Given the description of an element on the screen output the (x, y) to click on. 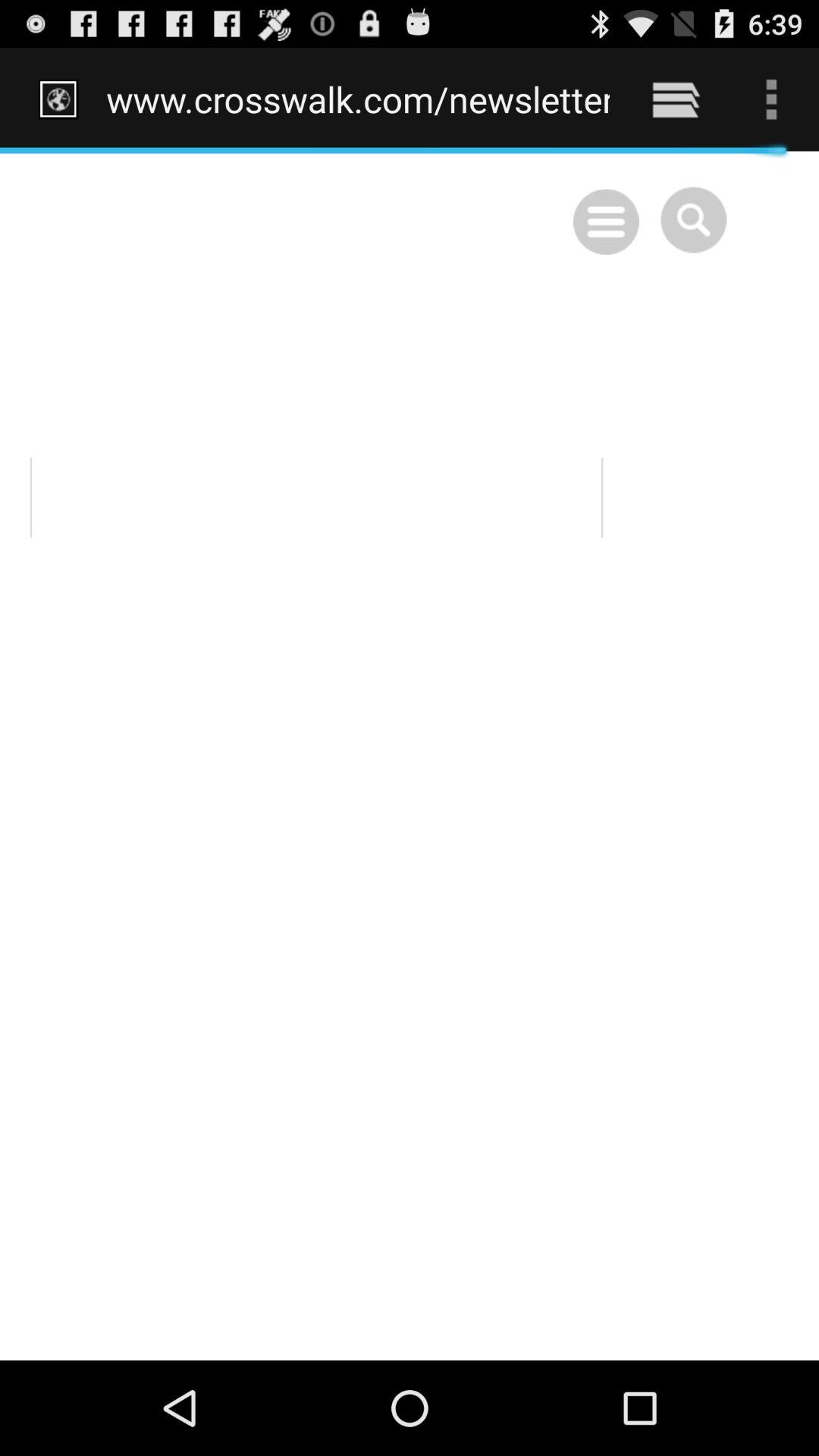
launch the item at the center (409, 755)
